Given the description of an element on the screen output the (x, y) to click on. 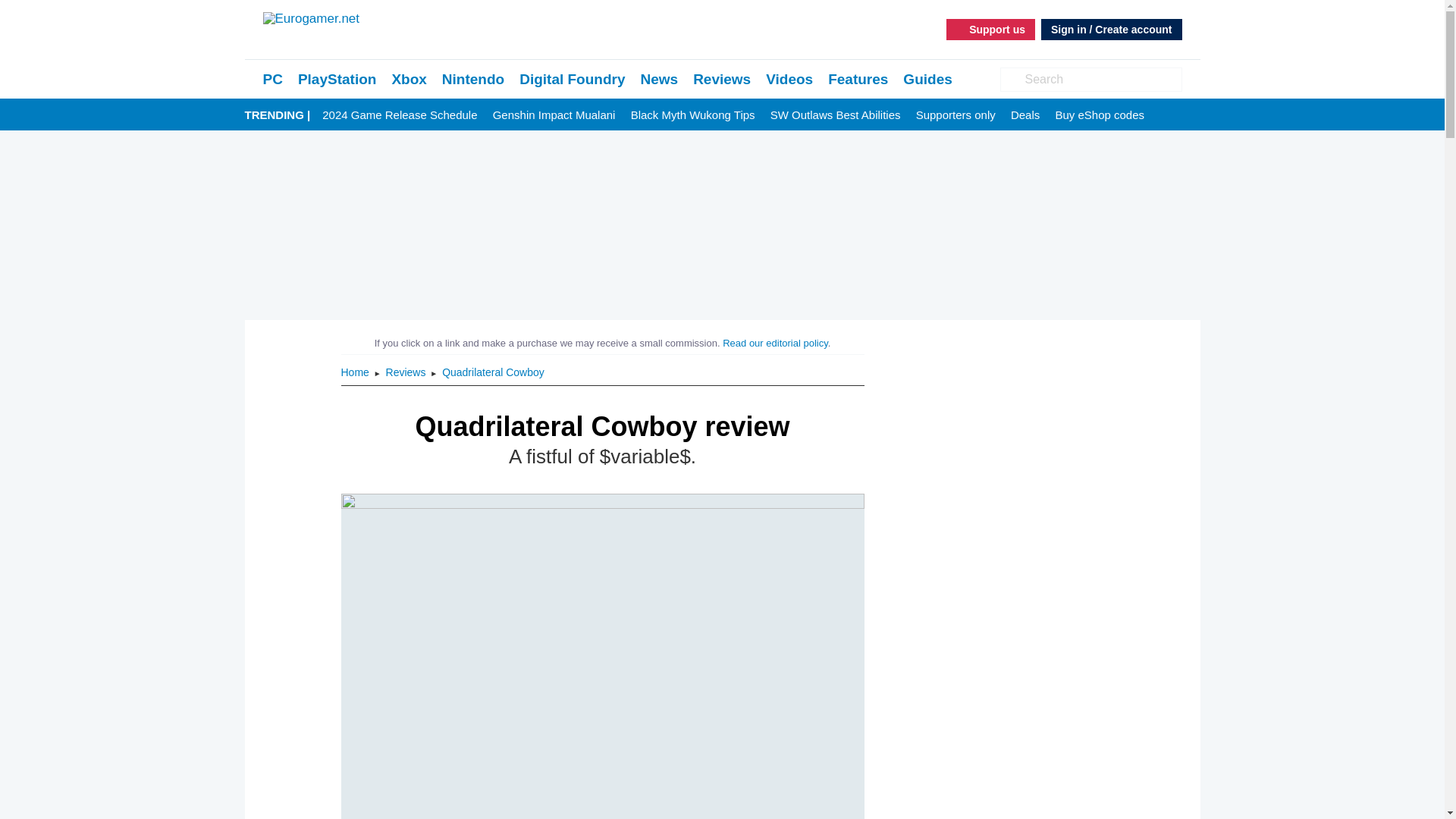
Genshin Impact Mualani (554, 114)
Black Myth Wukong Tips (692, 114)
SW Outlaws Best Abilities (835, 114)
Guides (927, 78)
Reviews (722, 78)
Supporters only (955, 114)
Digital Foundry (571, 78)
Reviews (407, 372)
Reviews (407, 372)
SW Outlaws Best Abilities (835, 114)
